Given the description of an element on the screen output the (x, y) to click on. 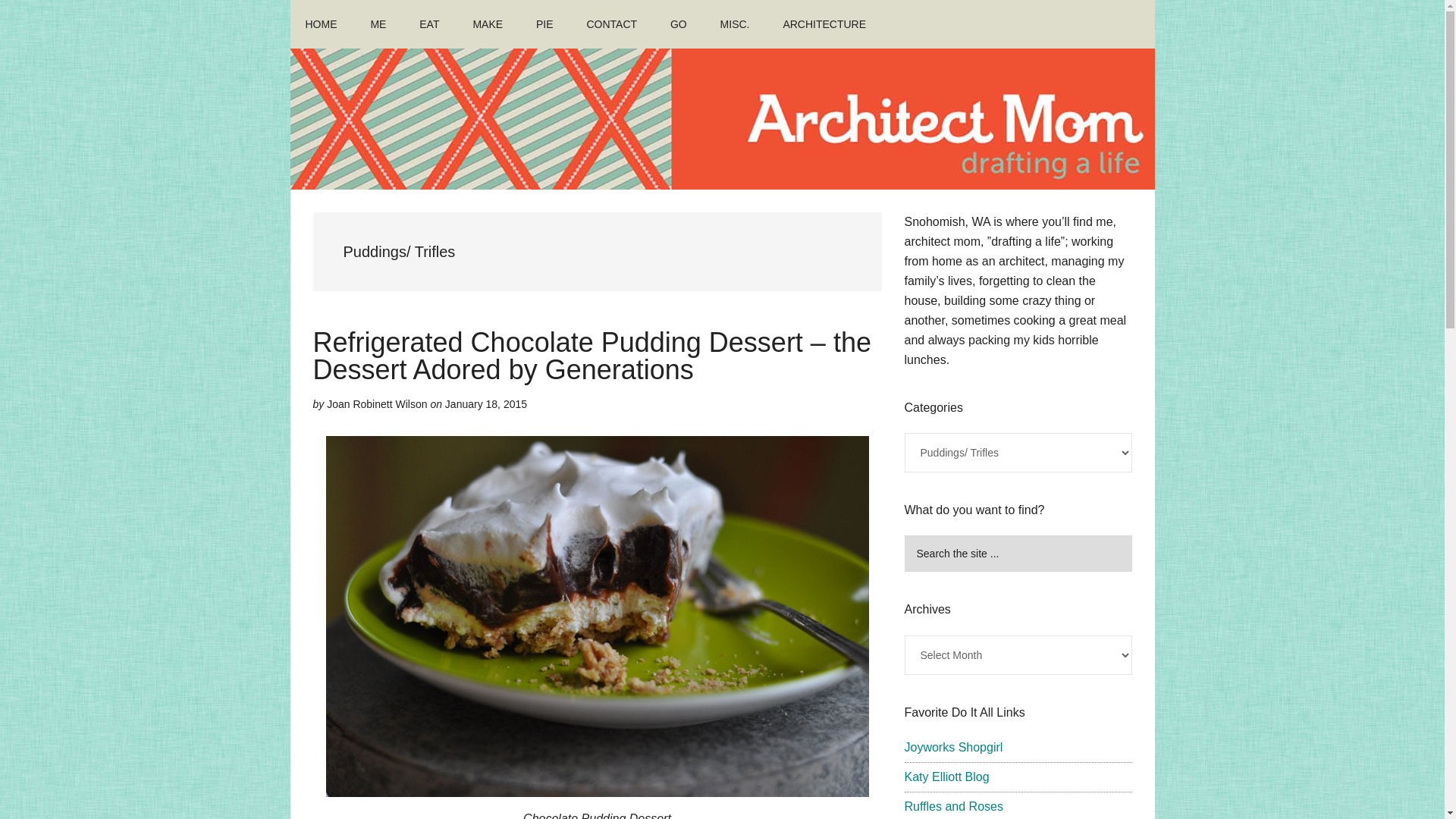
Joyworks Shopgirl (953, 747)
Joyworks Shopgirl blog (953, 747)
EAT (429, 24)
PIE (545, 24)
MISC. (734, 24)
MAKE (487, 24)
CONTACT (611, 24)
GO (678, 24)
Katy Elliott Blog (946, 776)
ARCHITECTURE (823, 24)
HOME (320, 24)
Ruffles and Roses (953, 806)
